Given the description of an element on the screen output the (x, y) to click on. 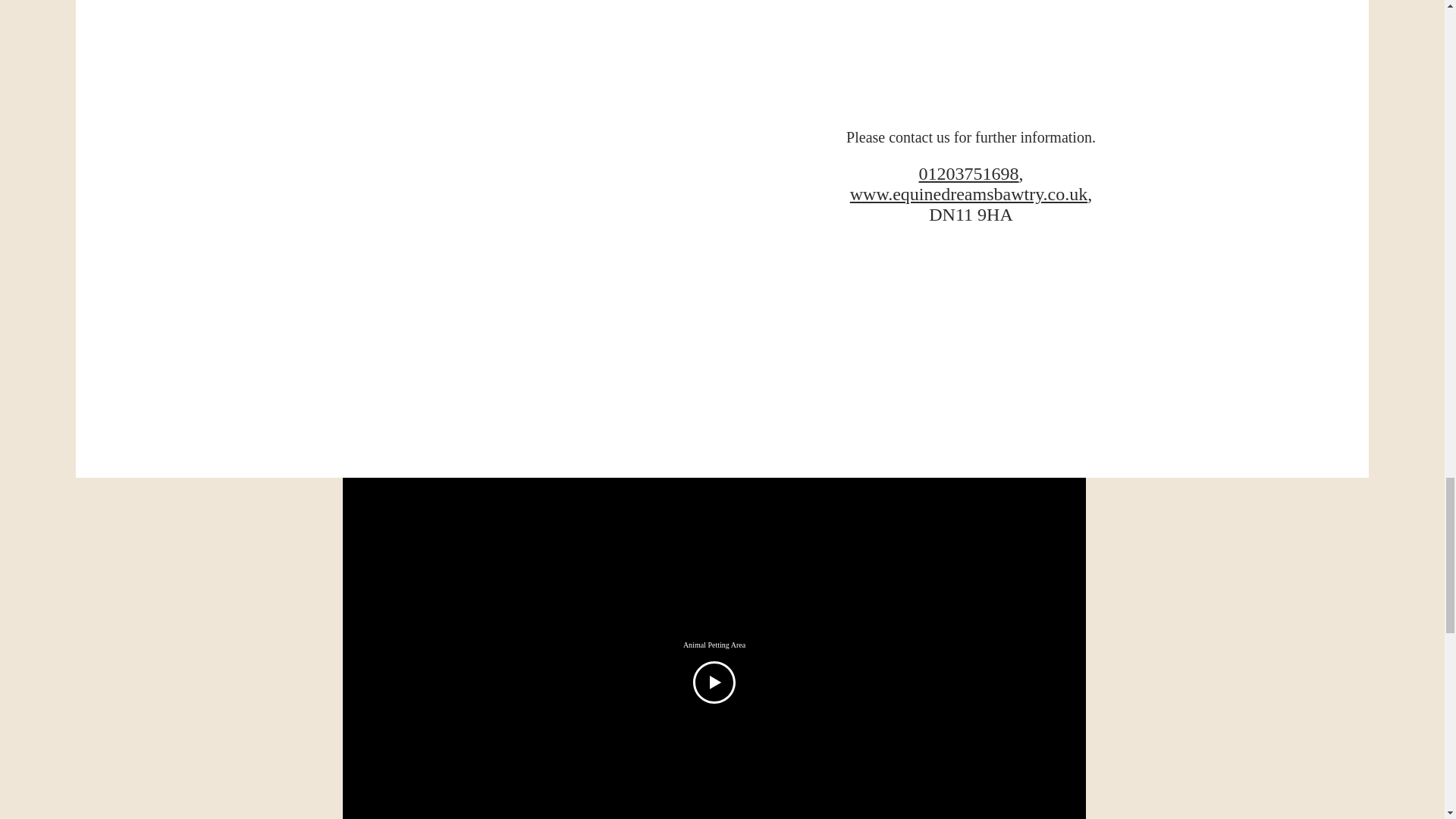
01203751698 (968, 173)
www.equinedreamsbawtry.co.uk (968, 193)
Animal Petting Area (714, 644)
